Given the description of an element on the screen output the (x, y) to click on. 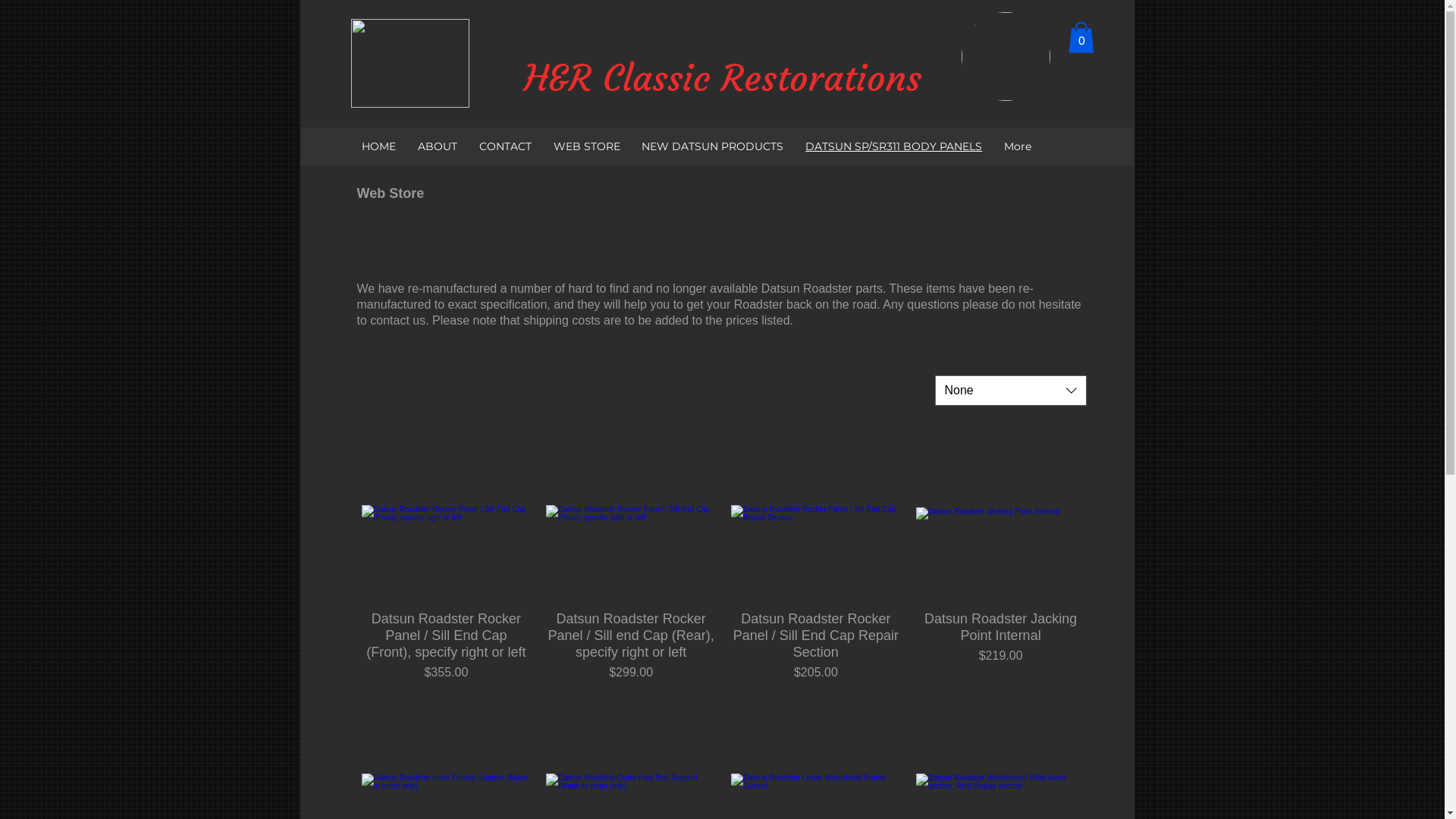
HOME Element type: text (378, 145)
ABOUT Element type: text (436, 145)
None Element type: text (1009, 390)
NEW DATSUN PRODUCTS Element type: text (712, 145)
0 Element type: text (1080, 37)
WEB STORE Element type: text (586, 145)
CONTACT Element type: text (504, 145)
Datsun Roadster Jacking Point Internal
Price
$219.00 Element type: text (1000, 645)
DATSUN SP/SR311 BODY PANELS Element type: text (893, 145)
More Element type: text (1017, 145)
